Given the description of an element on the screen output the (x, y) to click on. 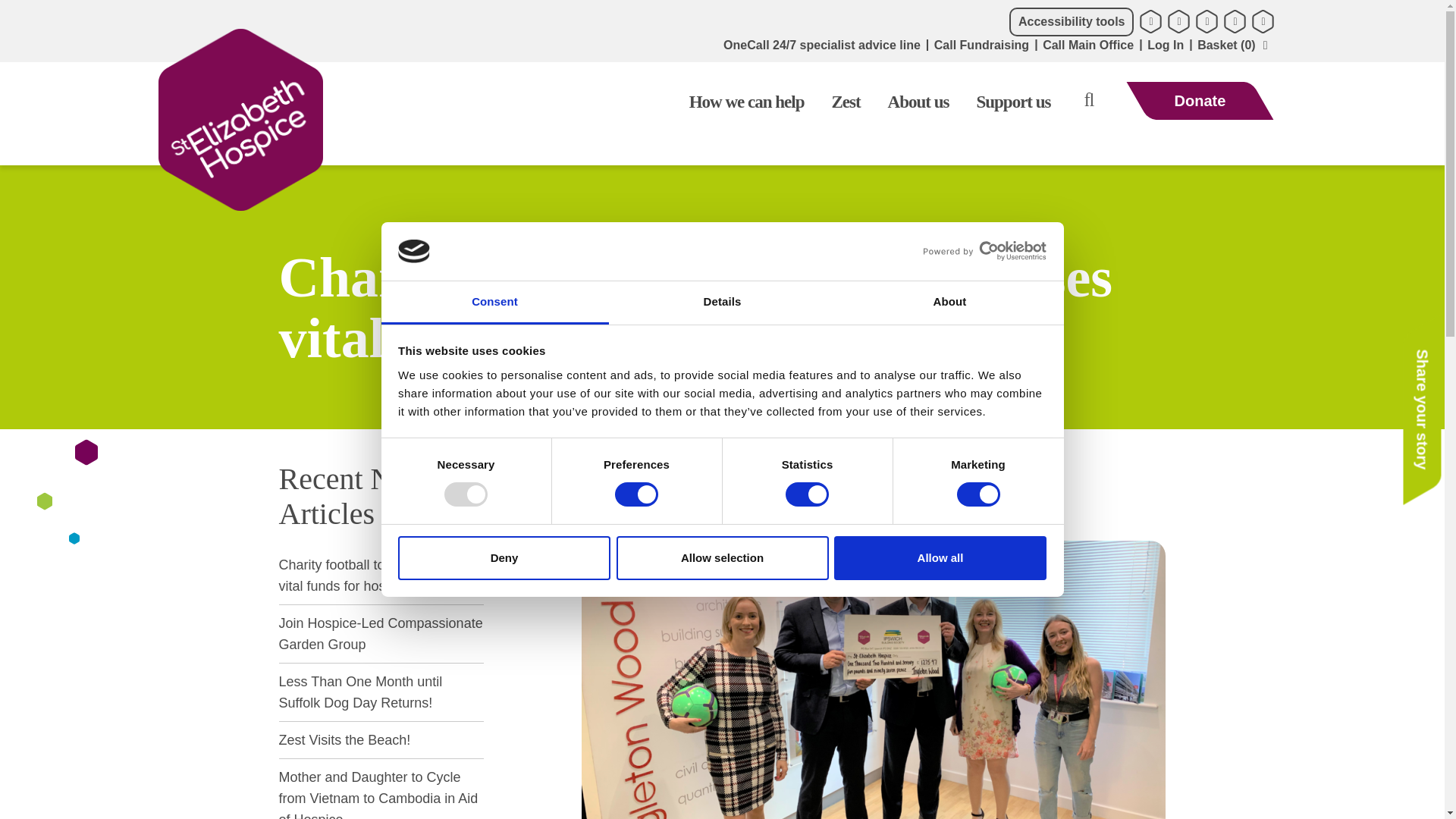
Consent (494, 302)
About (948, 302)
Details (721, 302)
